Given the description of an element on the screen output the (x, y) to click on. 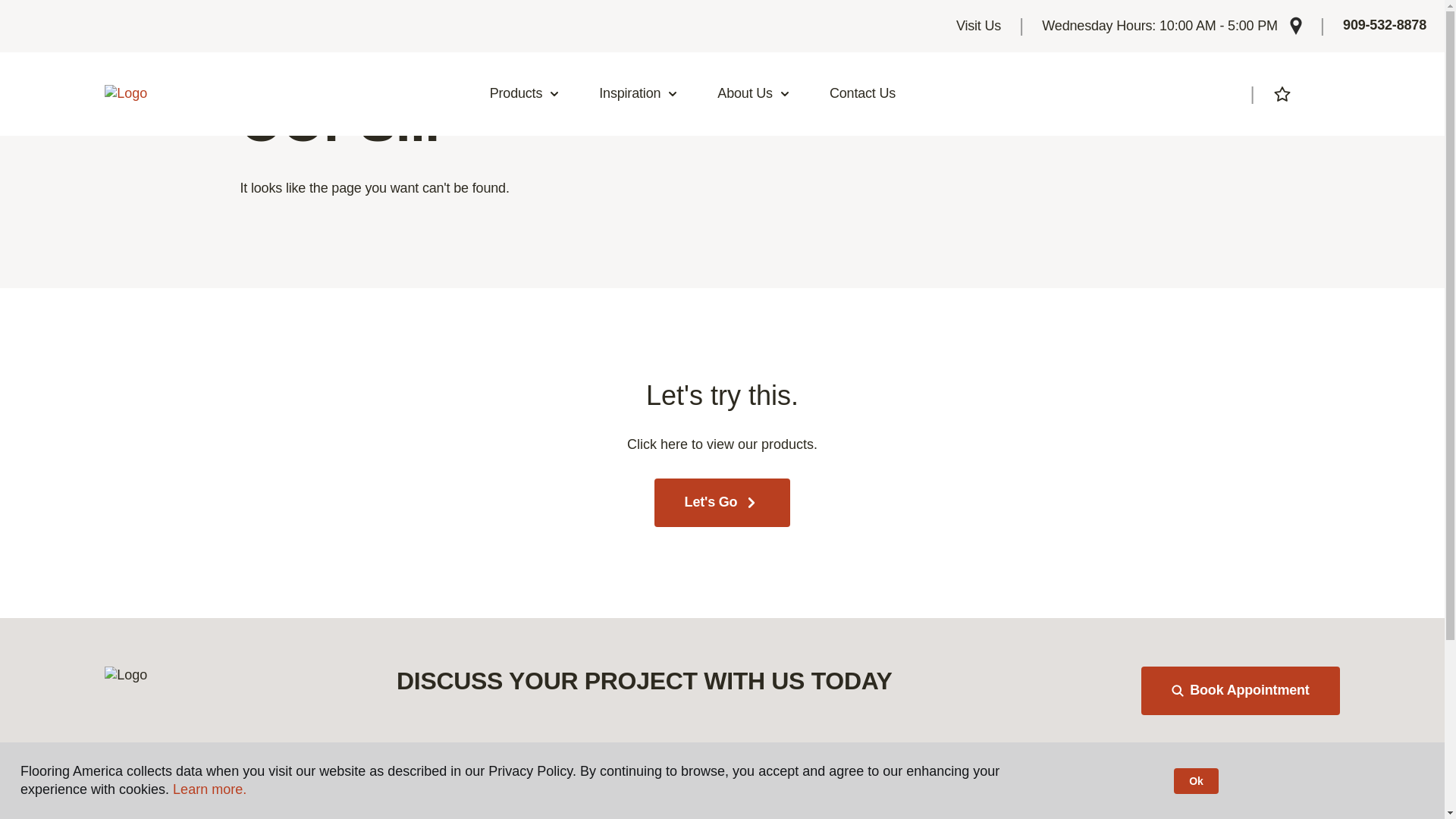
Inspiration (638, 94)
Products (525, 94)
Visit Us (978, 26)
About Us (753, 94)
909-532-8878 (1384, 25)
Contact Us (862, 94)
